Given the description of an element on the screen output the (x, y) to click on. 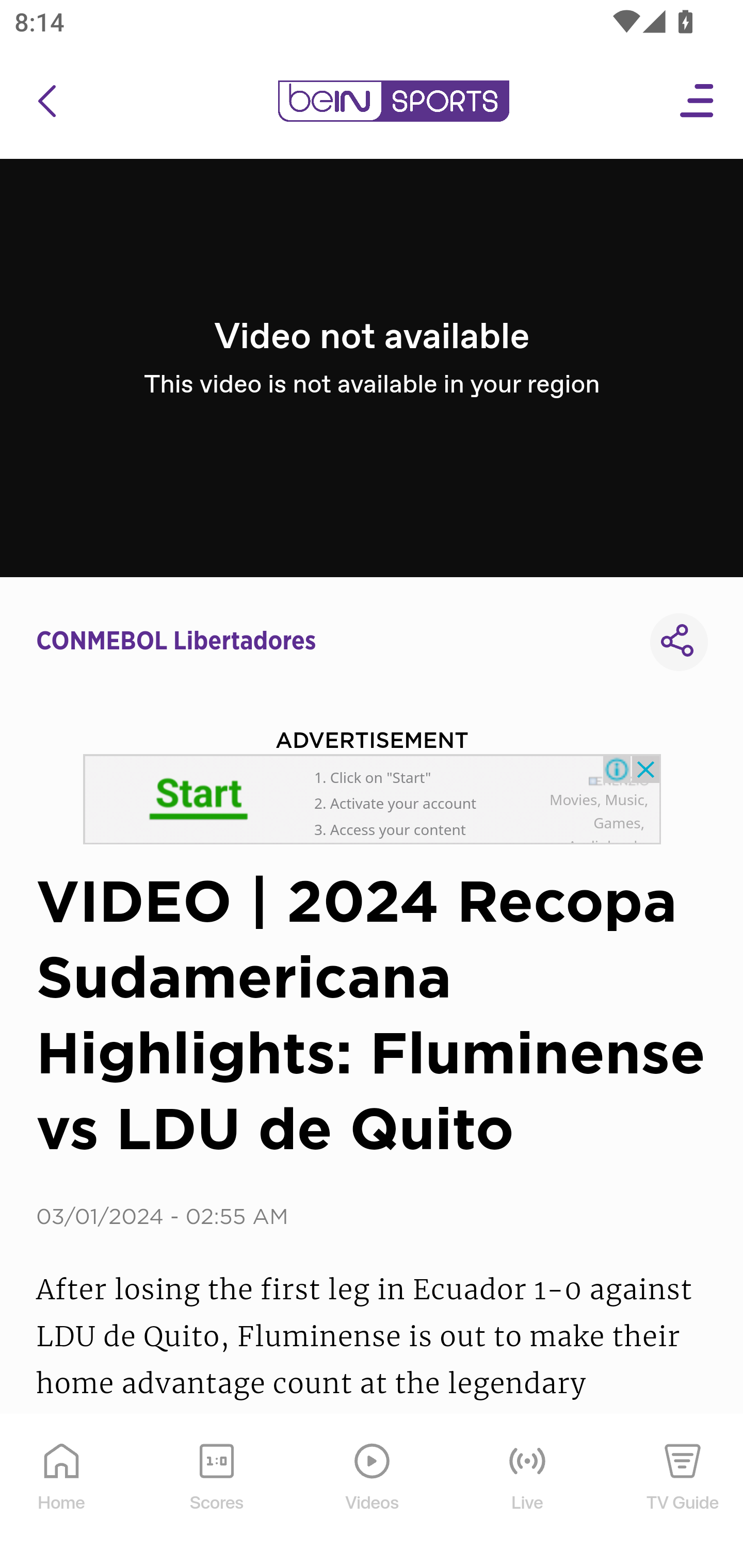
en-us?platform=mobile_android bein logo (392, 101)
icon back (46, 101)
Open Menu Icon (697, 101)
Home Home Icon Home (61, 1491)
Scores Scores Icon Scores (216, 1491)
Videos Videos Icon Videos (372, 1491)
TV Guide TV Guide Icon TV Guide (682, 1491)
